Given the description of an element on the screen output the (x, y) to click on. 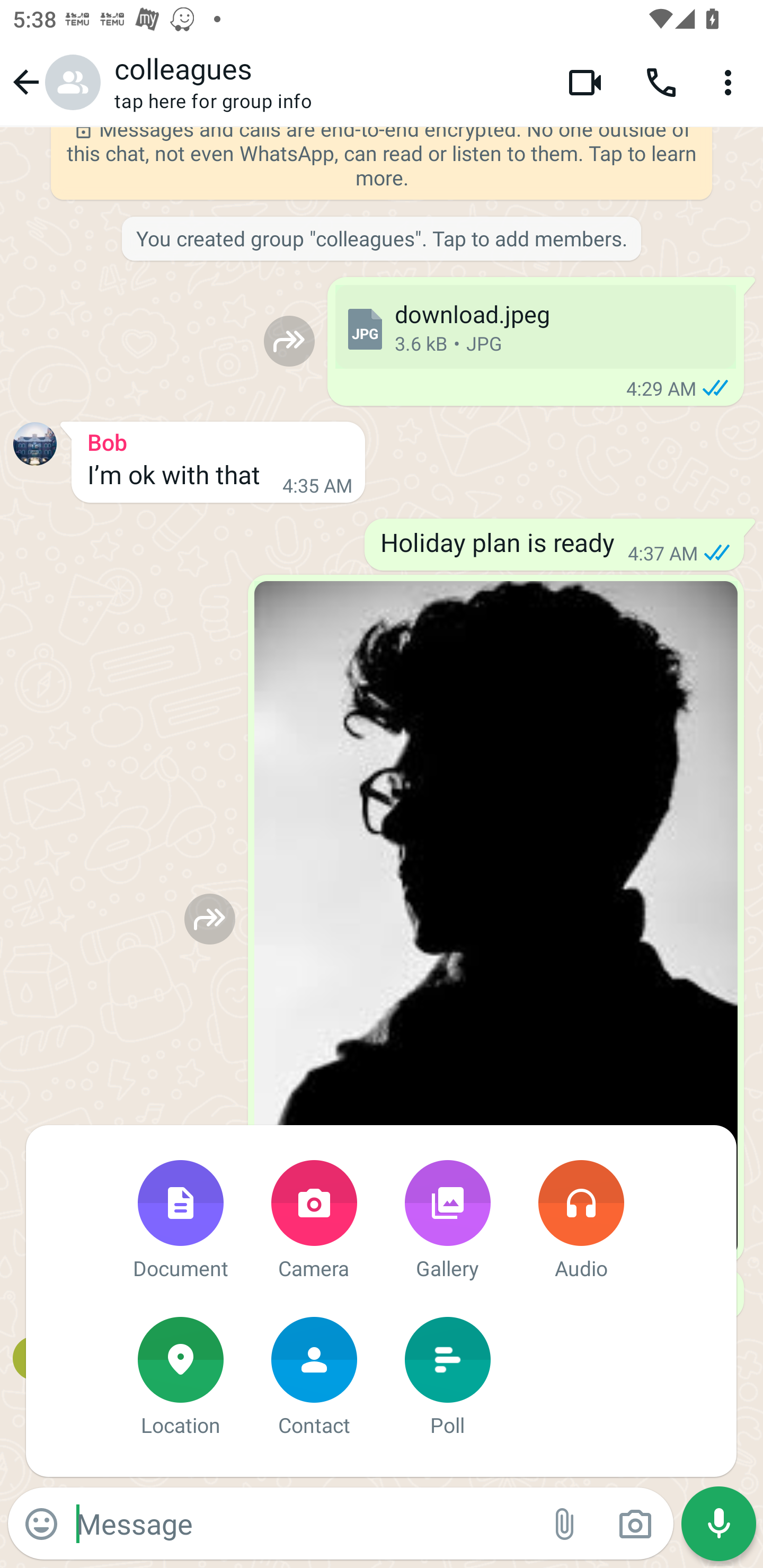
Document (180, 1221)
Camera (313, 1221)
Gallery (447, 1221)
Audio (580, 1221)
Location (180, 1378)
Contact (313, 1378)
Poll (447, 1378)
